Given the description of an element on the screen output the (x, y) to click on. 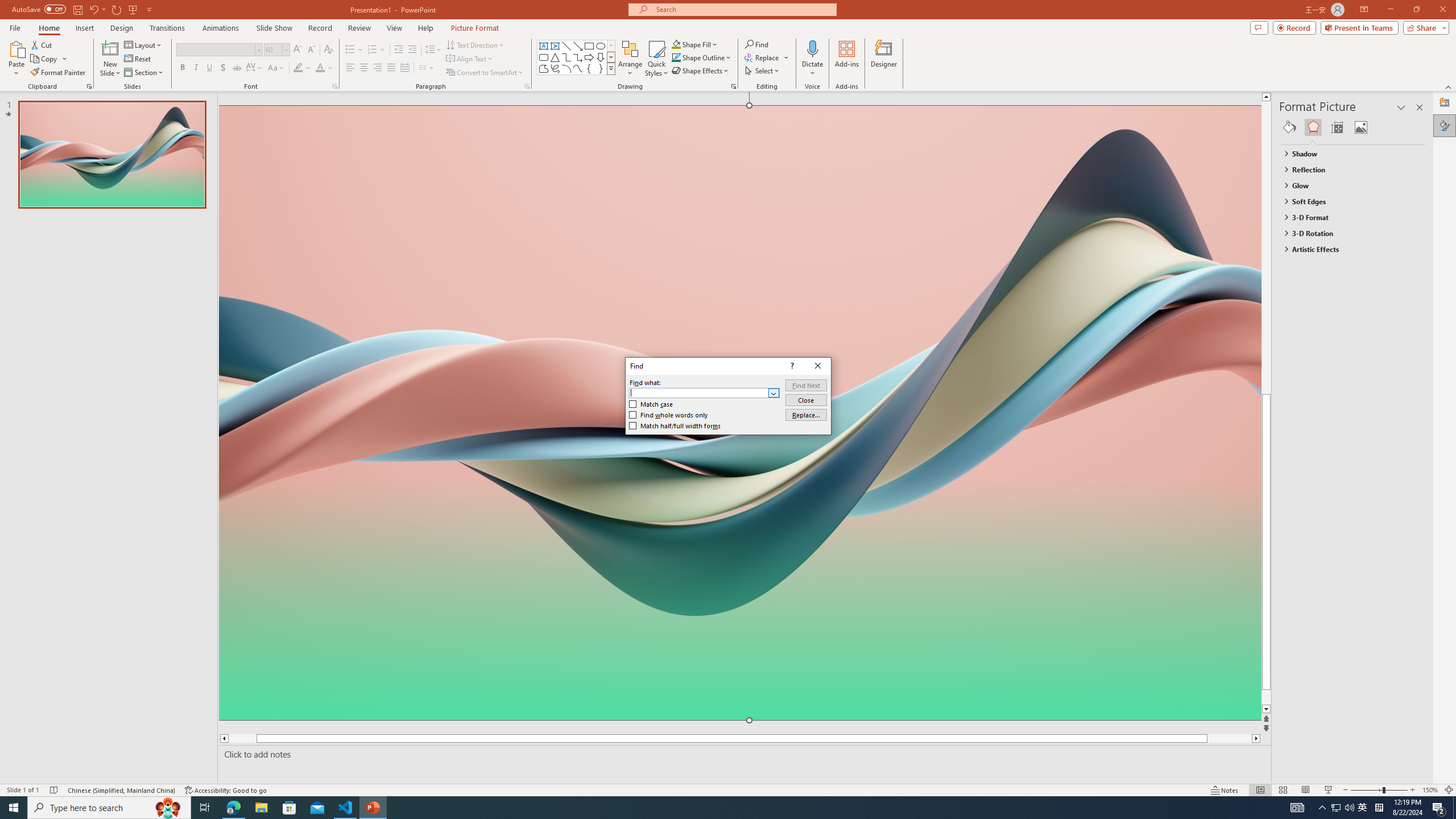
Decorative Locked (739, 579)
Soft Edges (1347, 201)
